Given the description of an element on the screen output the (x, y) to click on. 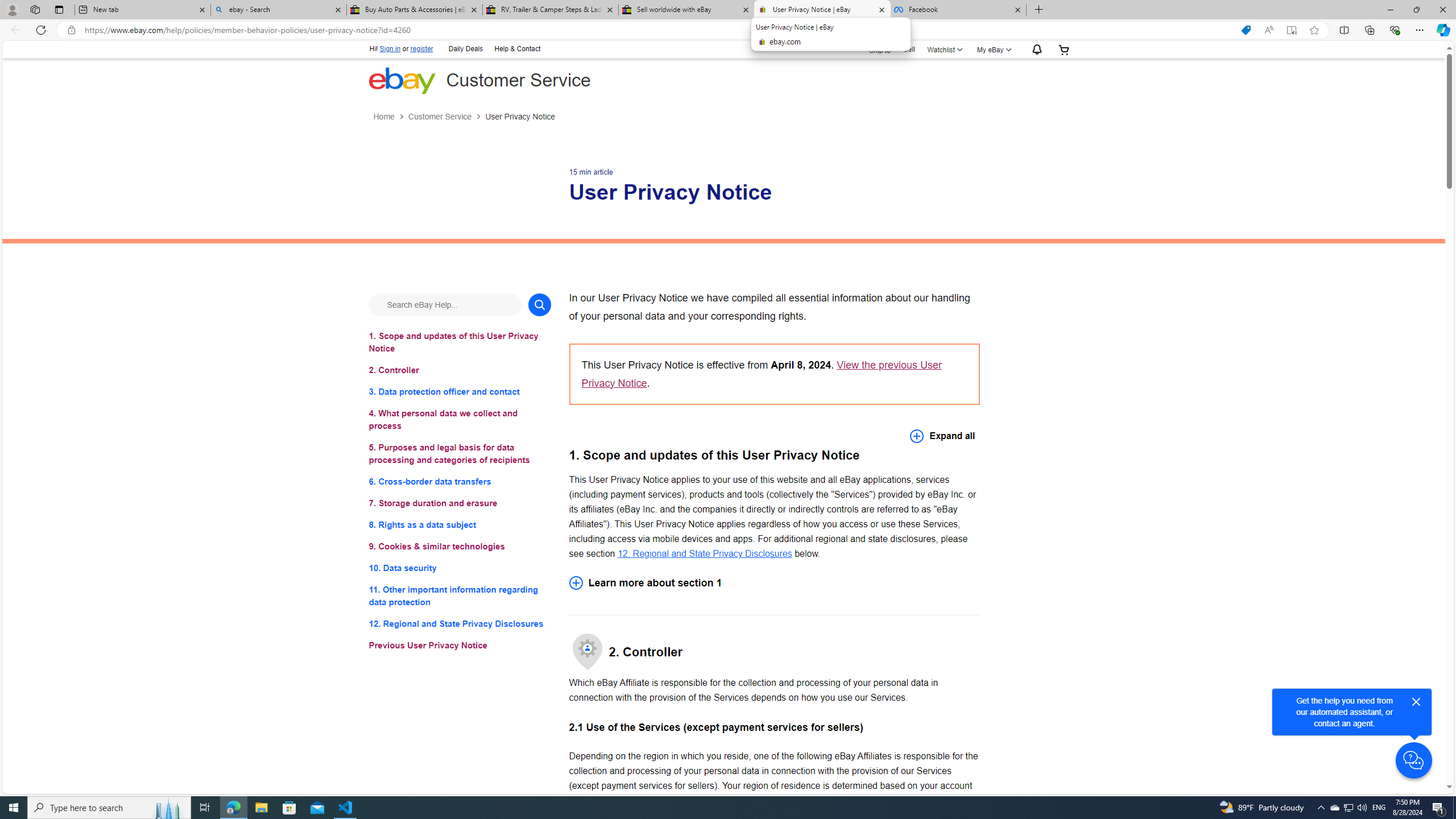
6. Cross-border data transfers (459, 481)
10. Data security (459, 567)
9. Cookies & similar technologies (459, 546)
eBay Home (401, 80)
Learn more about section 1 (774, 582)
Previous User Privacy Notice (459, 645)
12. Regional and State Privacy Disclosures (704, 552)
Notifications (1034, 49)
8. Rights as a data subject (459, 524)
8. Rights as a data subject (459, 524)
1. Scope and updates of this User Privacy Notice (459, 341)
10. Data security (459, 567)
